Given the description of an element on the screen output the (x, y) to click on. 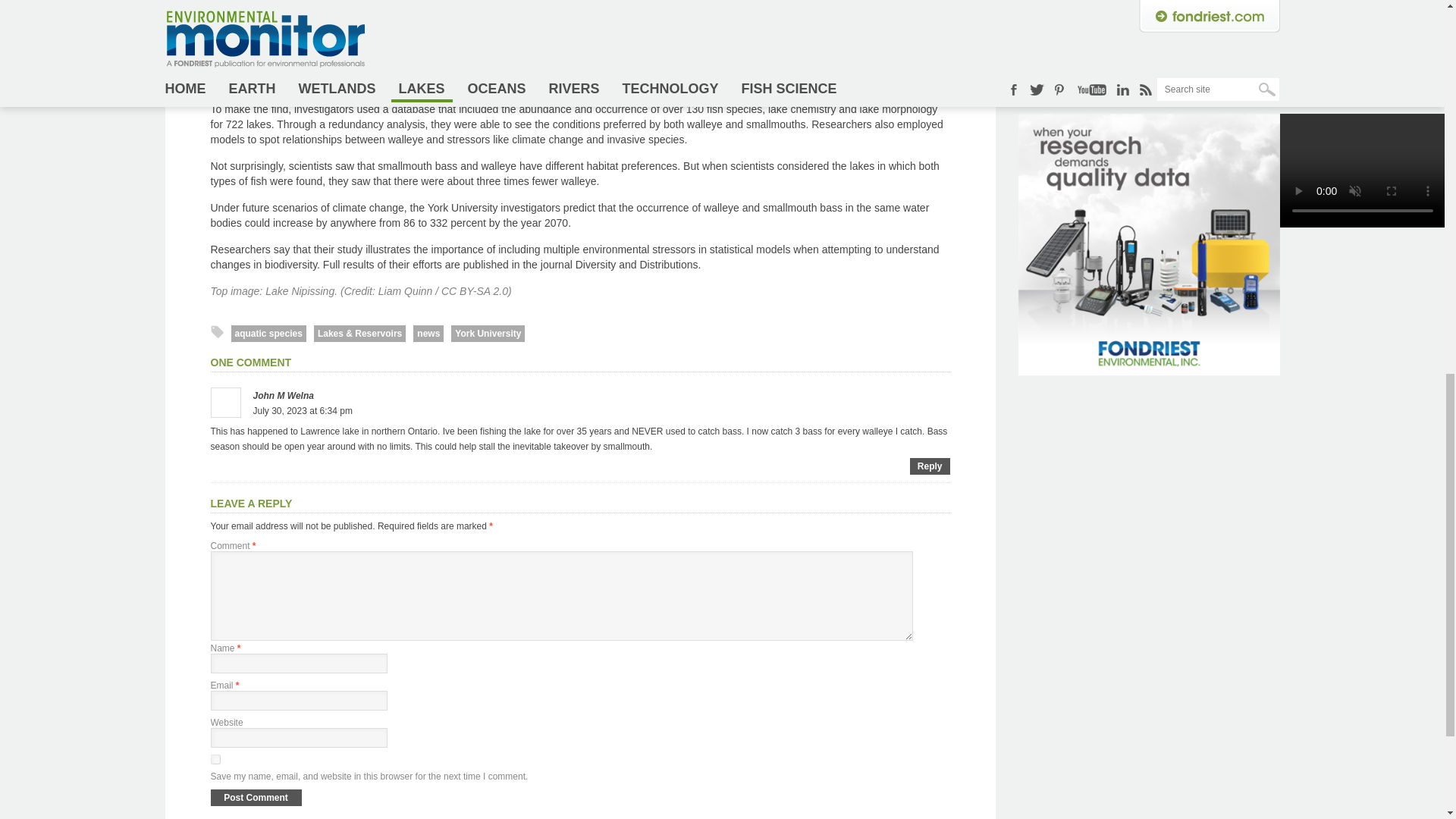
Post Comment (256, 797)
Post Comment (256, 797)
news (428, 333)
yes (216, 759)
aquatic species (267, 333)
Reply (929, 466)
York University (487, 333)
